Given the description of an element on the screen output the (x, y) to click on. 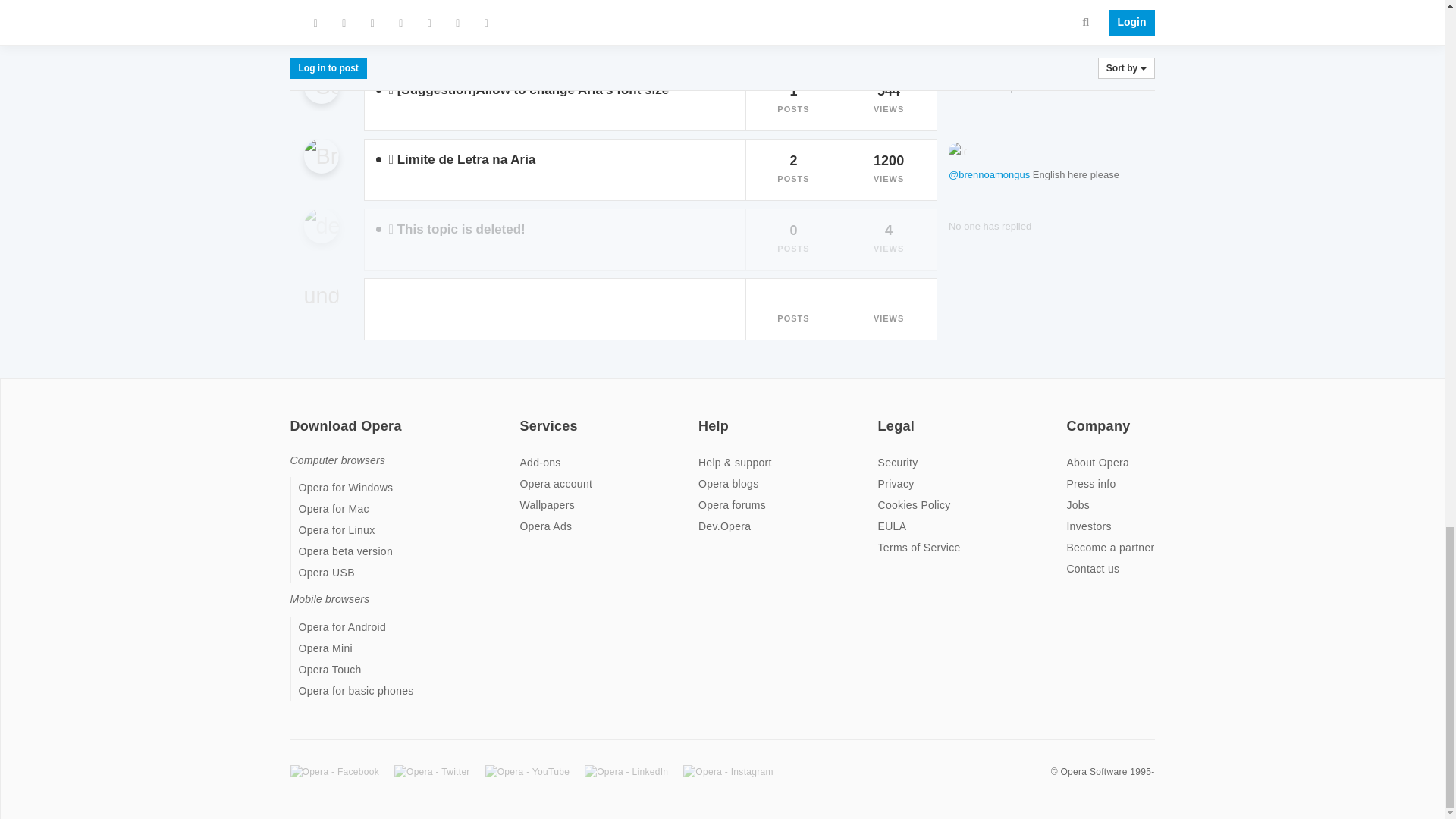
on (293, 415)
on (523, 415)
on (1070, 415)
on (702, 415)
on (881, 415)
